Given the description of an element on the screen output the (x, y) to click on. 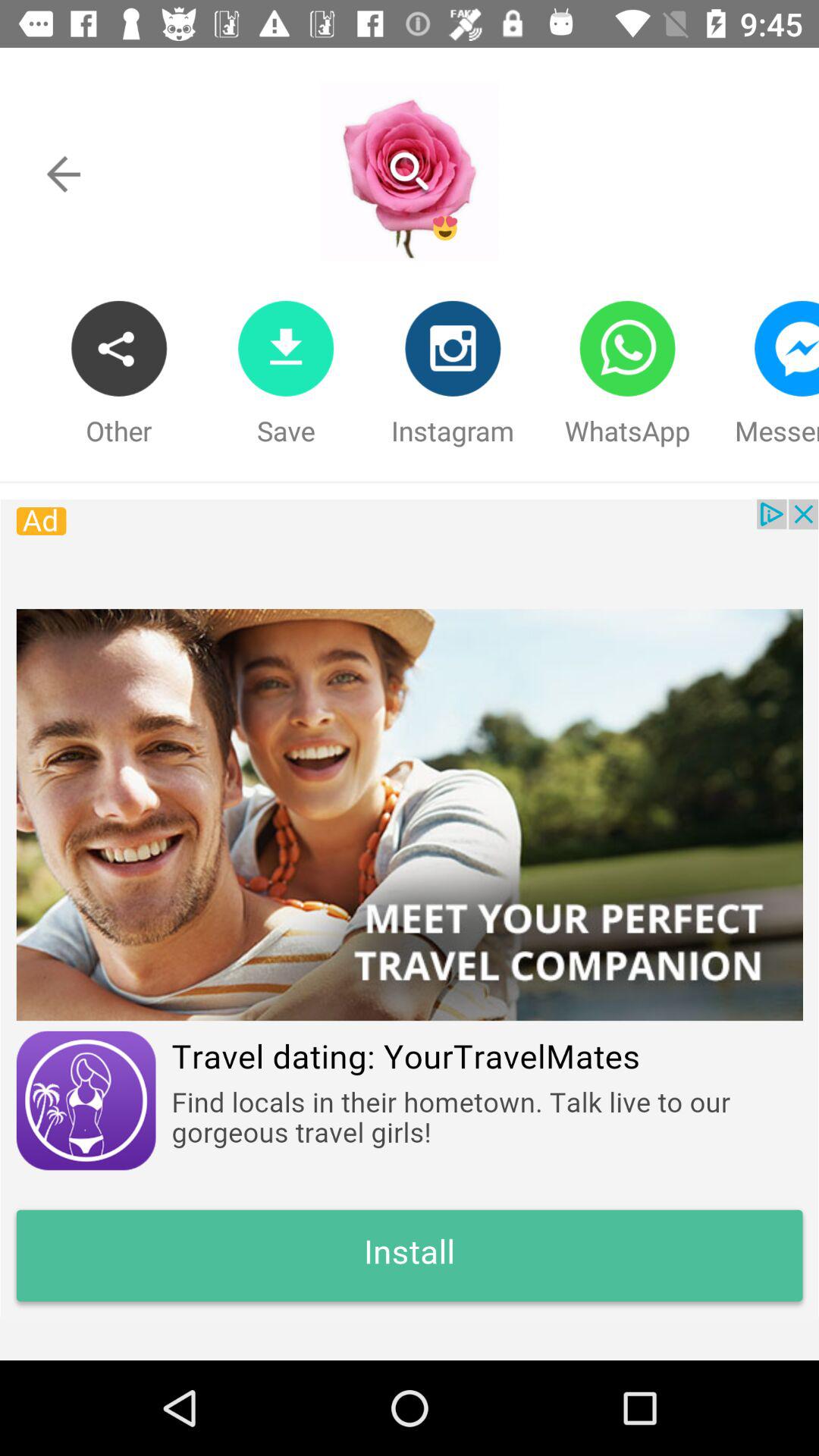
open search bar (408, 171)
